Given the description of an element on the screen output the (x, y) to click on. 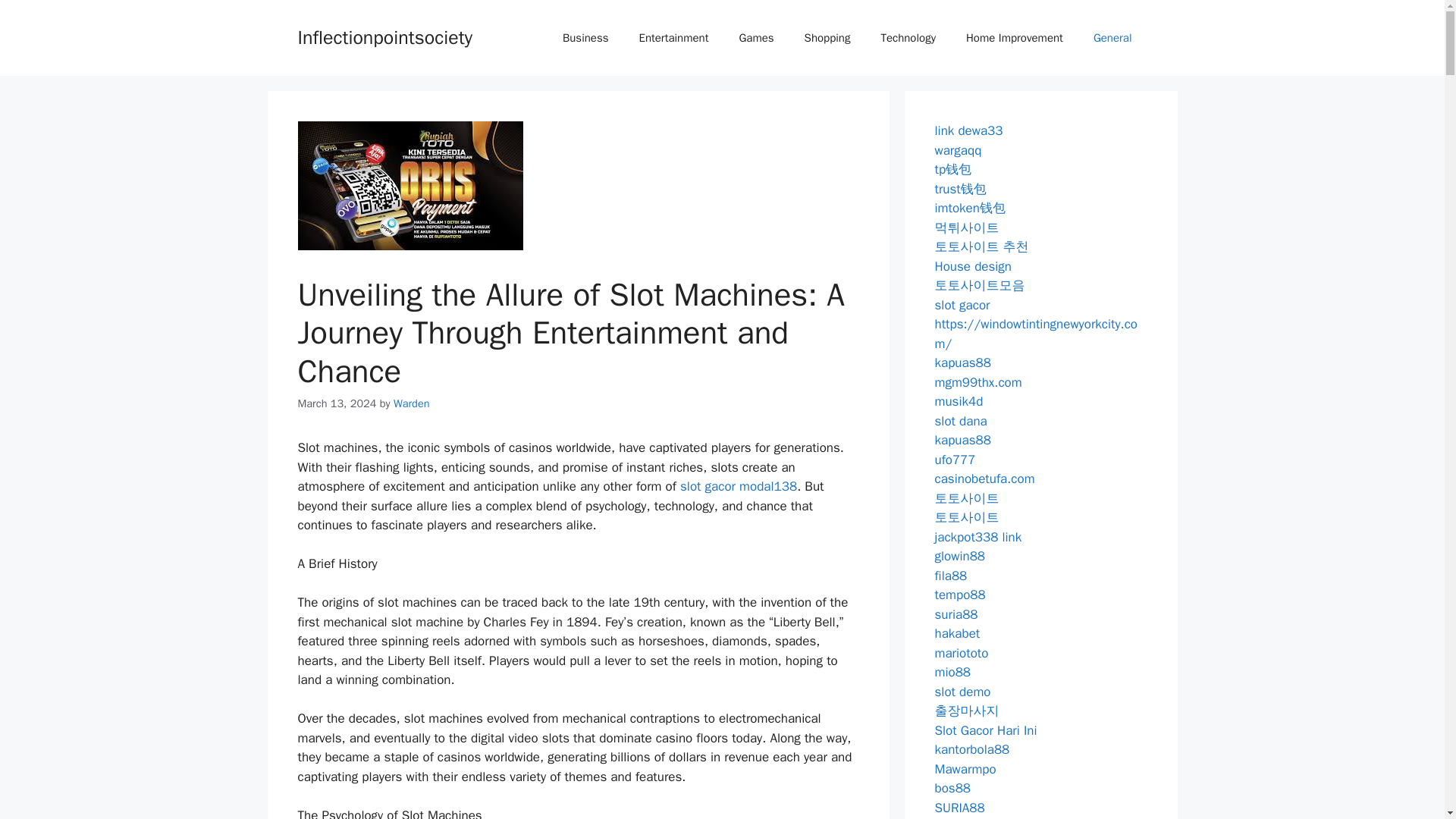
slot dana (960, 420)
slot gacor modal138 (737, 486)
General (1112, 37)
mgm99thx.com (978, 382)
jackpot338 link (978, 537)
Inflectionpointsociety (384, 37)
Home Improvement (1014, 37)
kapuas88 (962, 362)
House design (972, 265)
Warden (411, 403)
